Given the description of an element on the screen output the (x, y) to click on. 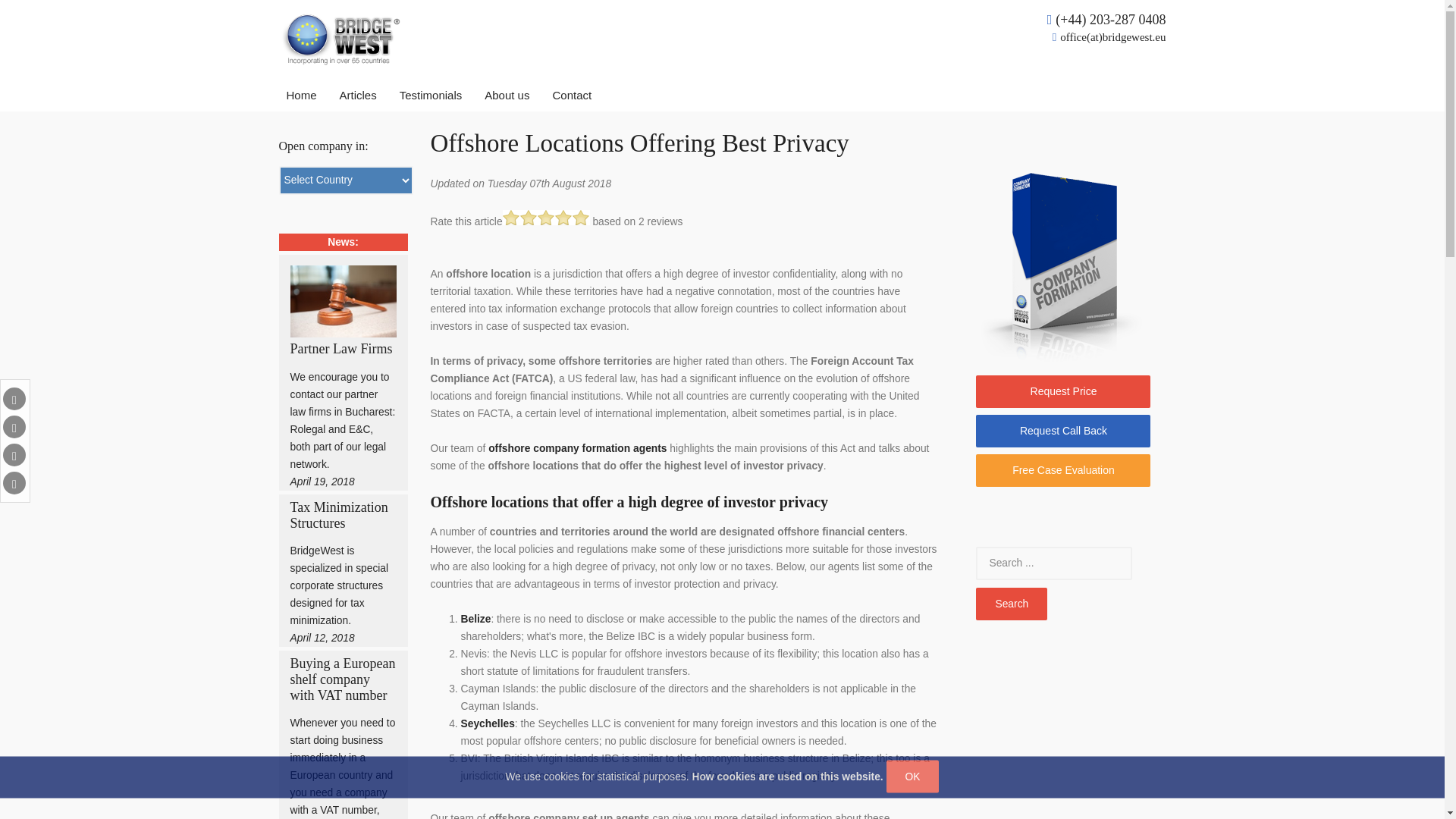
Search (1010, 603)
Request Call Back (1062, 430)
Belize (476, 618)
About us (506, 95)
Search (1010, 603)
Request Price (1062, 390)
Contact (571, 95)
Free Case Evaluation (1062, 469)
Home (301, 95)
Testimonials (430, 95)
Search (1010, 603)
offshore company formation agents (576, 448)
Seychelles (488, 722)
Search (1053, 562)
Articles (358, 95)
